Given the description of an element on the screen output the (x, y) to click on. 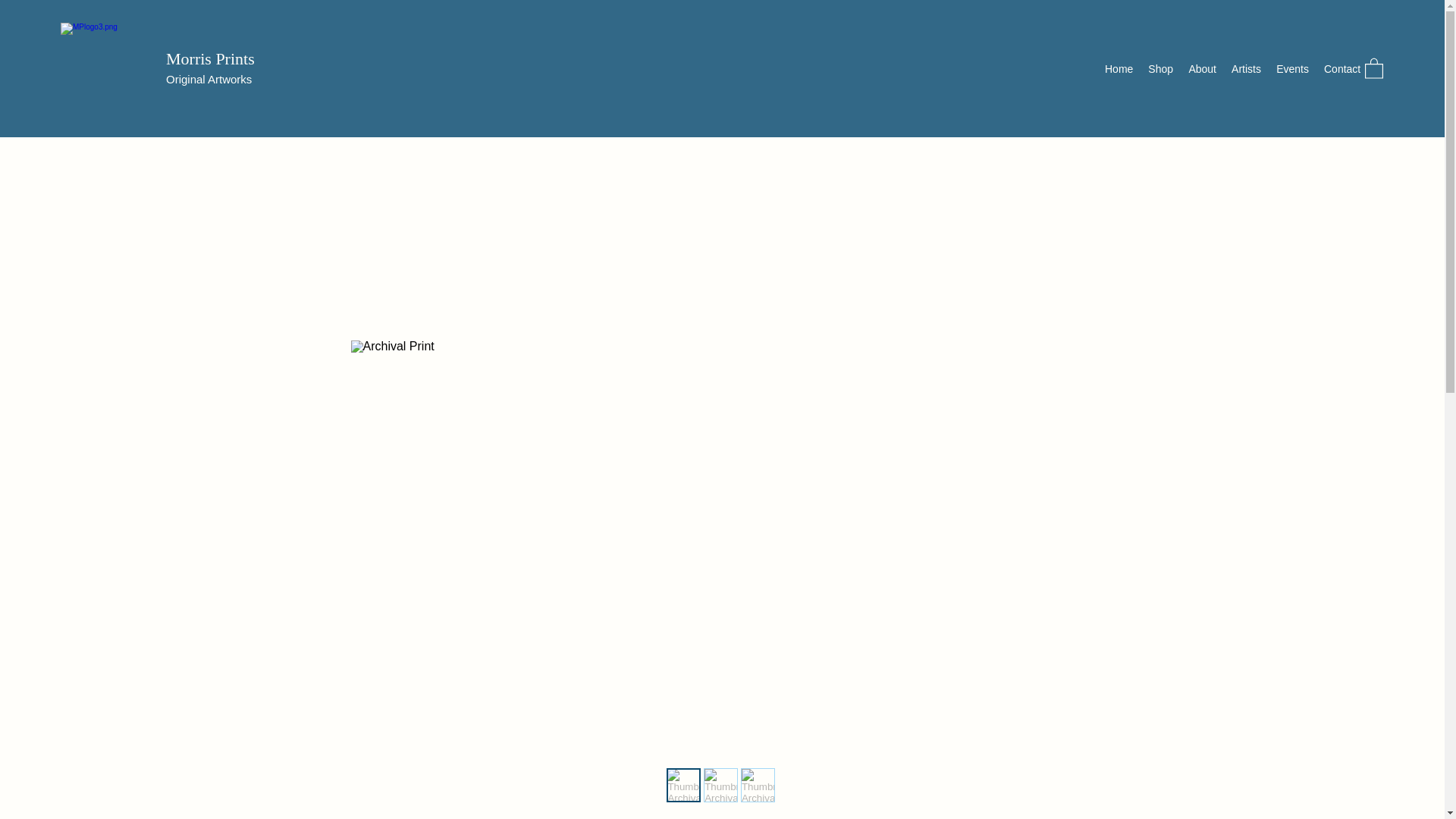
About (1202, 68)
Contact (1342, 68)
Shop (1160, 68)
Home (1118, 68)
Events (1292, 68)
Artists (1246, 68)
